Given the description of an element on the screen output the (x, y) to click on. 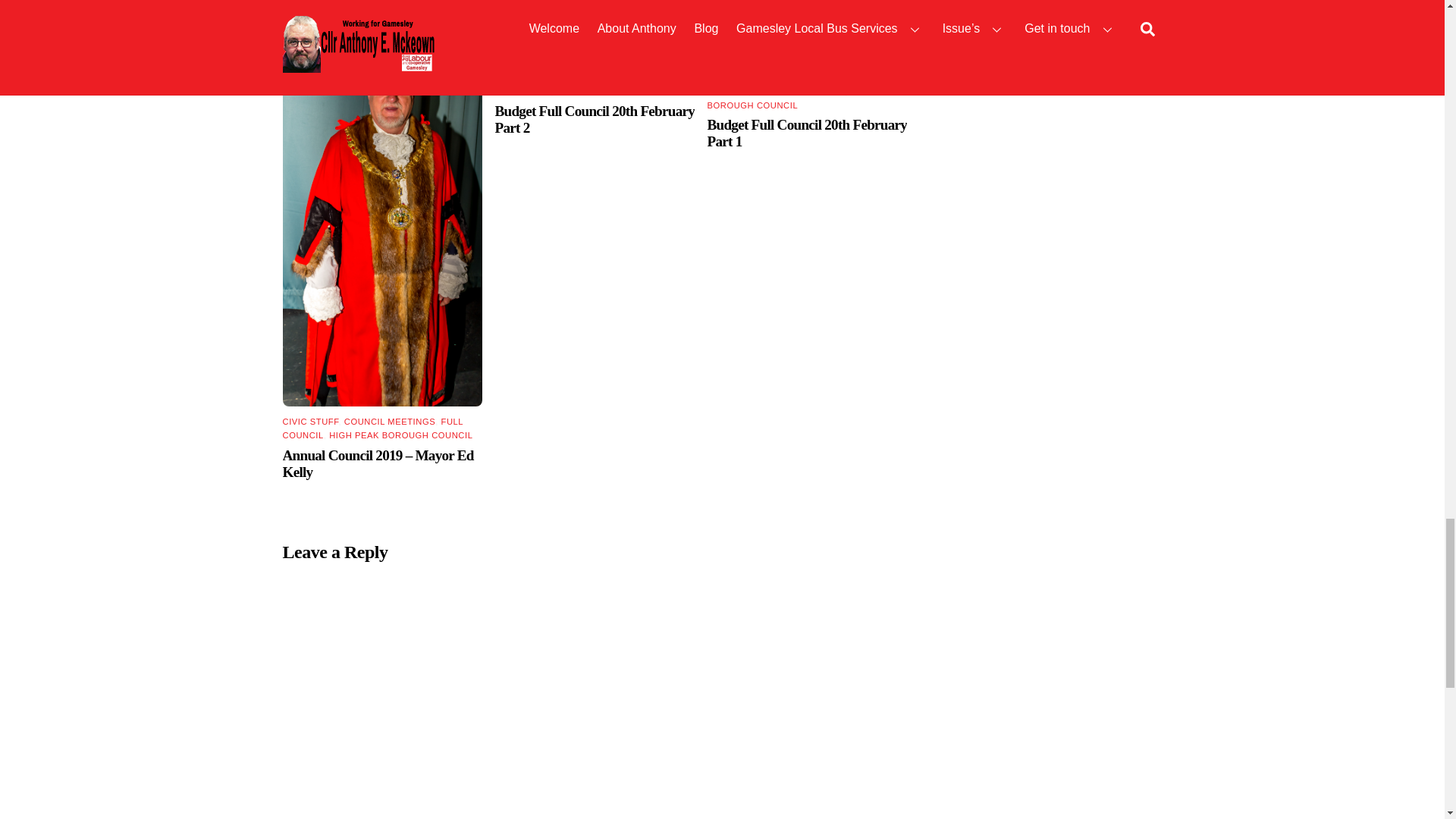
CIVIC STUFF (309, 420)
